Given the description of an element on the screen output the (x, y) to click on. 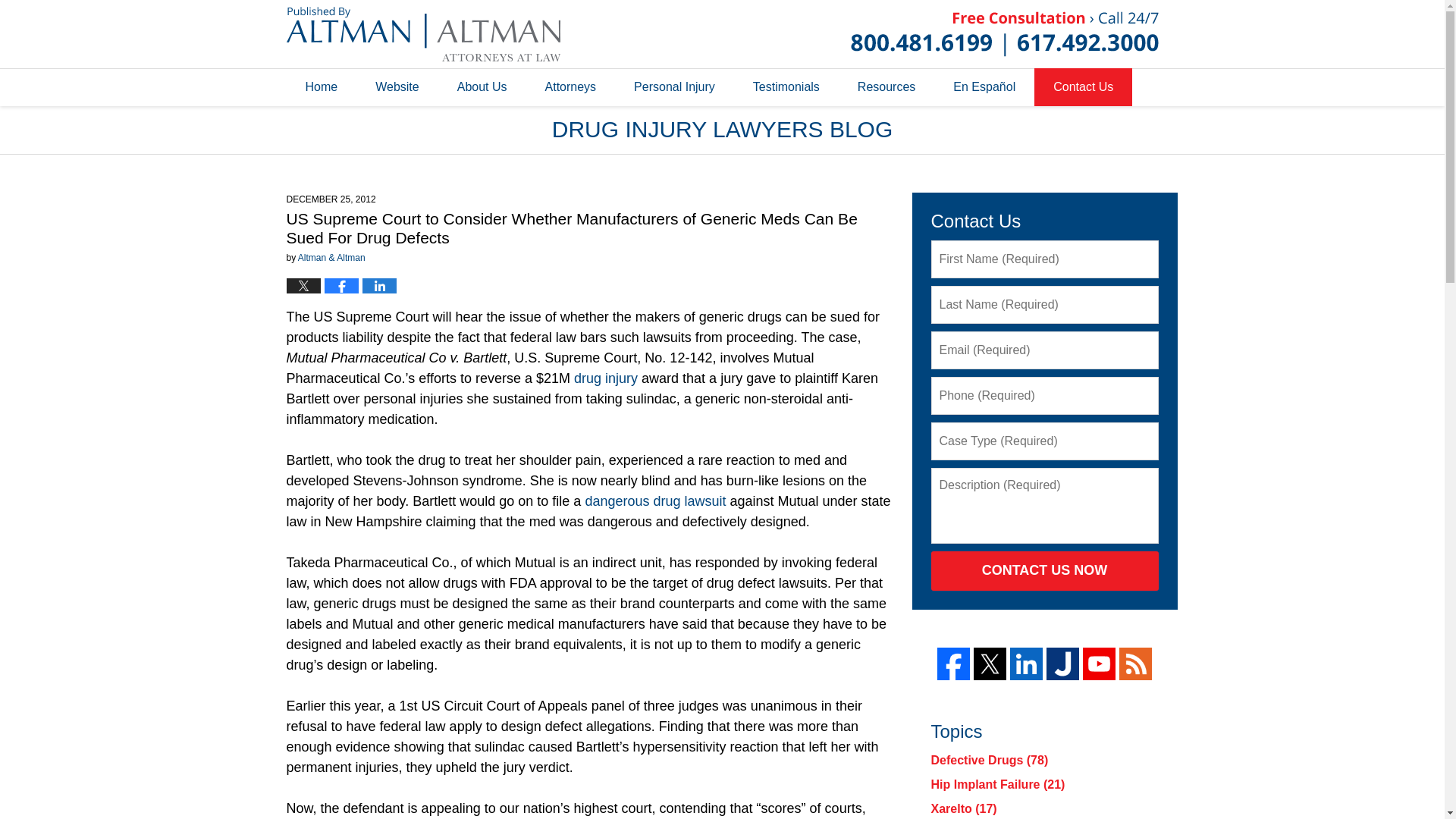
dangerous drug lawsuit (655, 500)
Feed (1135, 663)
Facebook (953, 663)
Home (321, 86)
LinkedIn (1026, 663)
Testimonials (785, 86)
Resources (886, 86)
Twitter (990, 663)
Attorneys (570, 86)
About Us (481, 86)
Contact Us (1082, 86)
YouTube (1099, 663)
Justia (1062, 663)
Personal Injury (673, 86)
Website (397, 86)
